Given the description of an element on the screen output the (x, y) to click on. 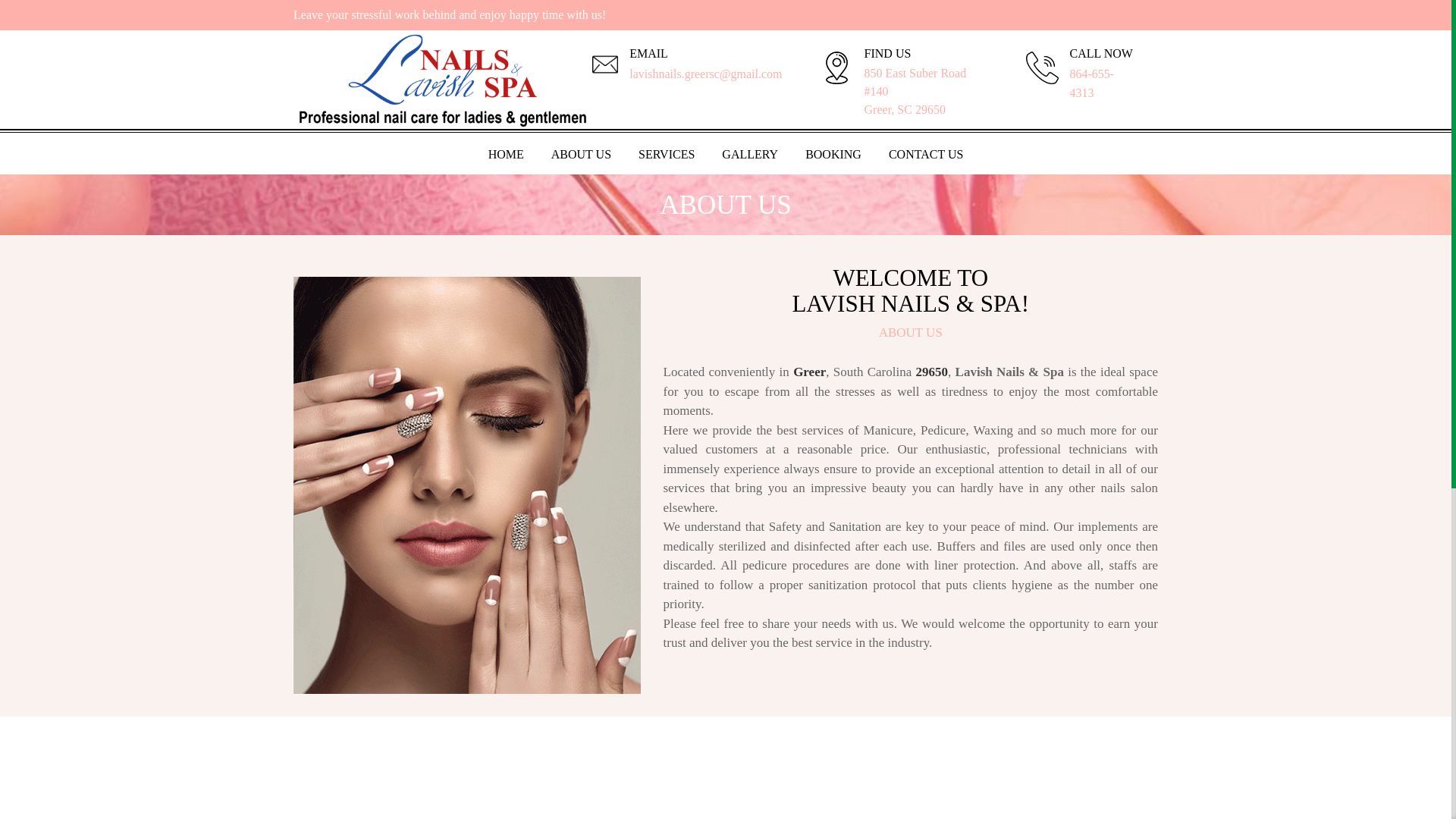
Greer (809, 371)
864-655-4313 (1092, 83)
service (666, 156)
gallery (749, 156)
GALLERY (749, 156)
864-655-4313 (1092, 83)
about (581, 156)
ABOUT US (581, 156)
contact (925, 156)
BOOKING (833, 156)
